Given the description of an element on the screen output the (x, y) to click on. 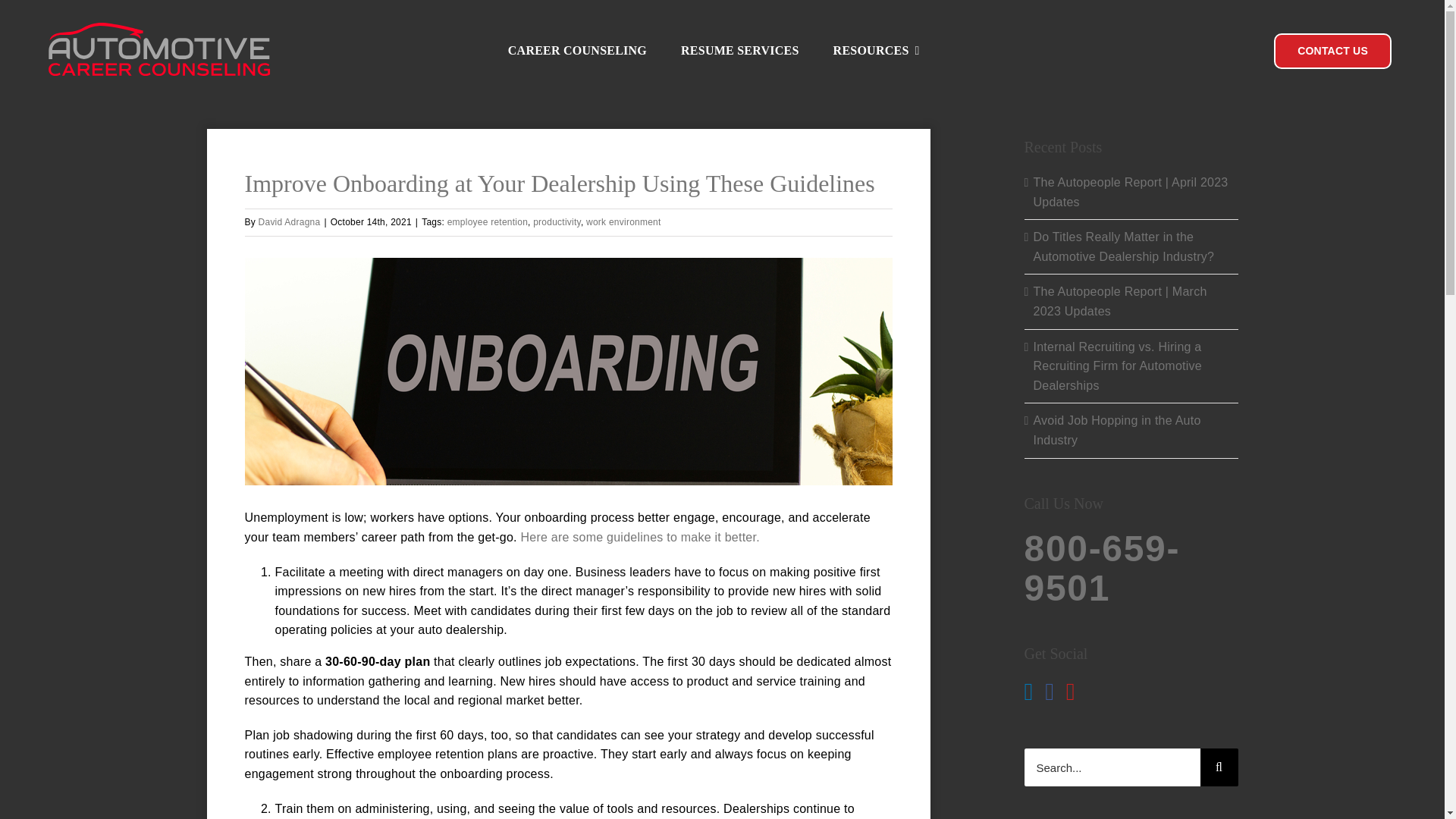
employee retention (486, 222)
Posts by David Adragna (289, 222)
work environment (623, 222)
RESUME SERVICES (740, 51)
David Adragna (289, 222)
Here are some guidelines to make it better. (638, 536)
CAREER COUNSELING (577, 51)
CONTACT US (1332, 50)
RESOURCES (876, 51)
productivity (556, 222)
